Given the description of an element on the screen output the (x, y) to click on. 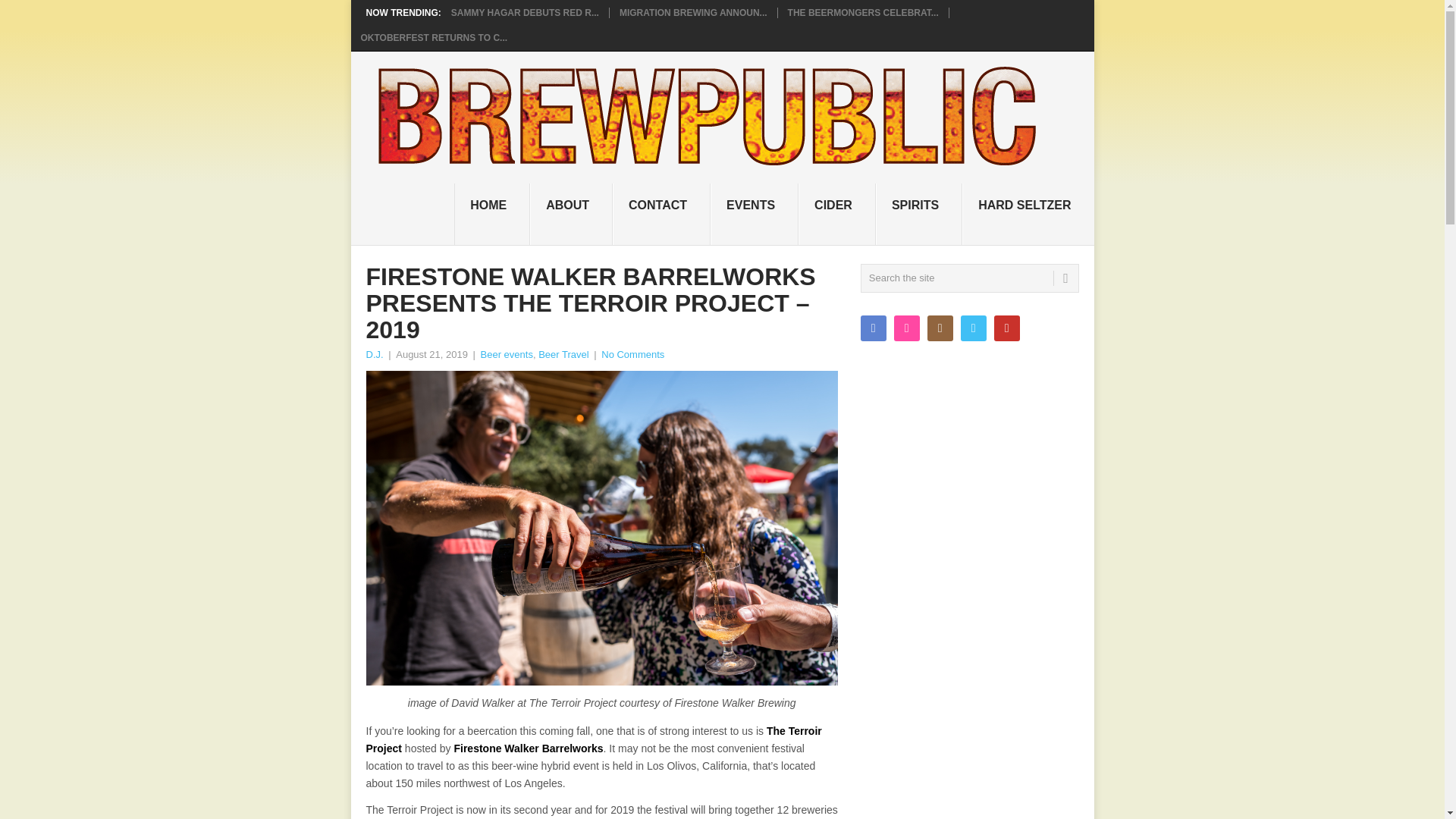
Search the site (969, 277)
Flickr (906, 328)
Beer Travel (563, 354)
SPIRITS (919, 214)
The BeerMongers Celebrates 15 Years of Portland Craft Beer! (863, 12)
Posts by D.J. (373, 354)
ABOUT (570, 214)
Instagram (940, 328)
OKTOBERFEST RETURNS TO C... (434, 37)
